Given the description of an element on the screen output the (x, y) to click on. 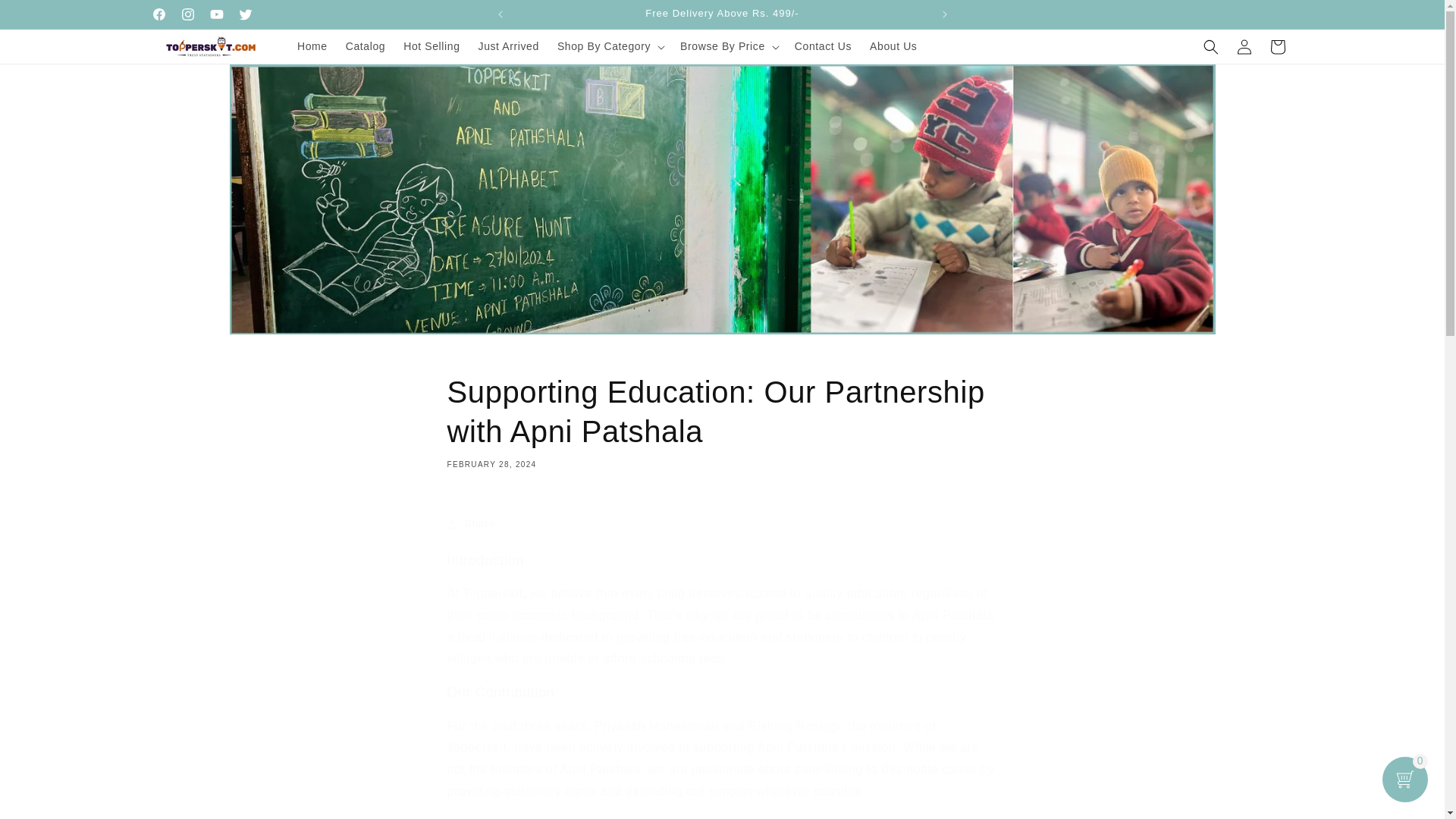
YouTube (216, 14)
Twitter (244, 14)
Skip to content (45, 17)
Share (721, 523)
Catalog (365, 46)
Instagram (187, 14)
Home (312, 46)
Hot Selling (431, 46)
Facebook (158, 14)
Just Arrived (508, 46)
